Given the description of an element on the screen output the (x, y) to click on. 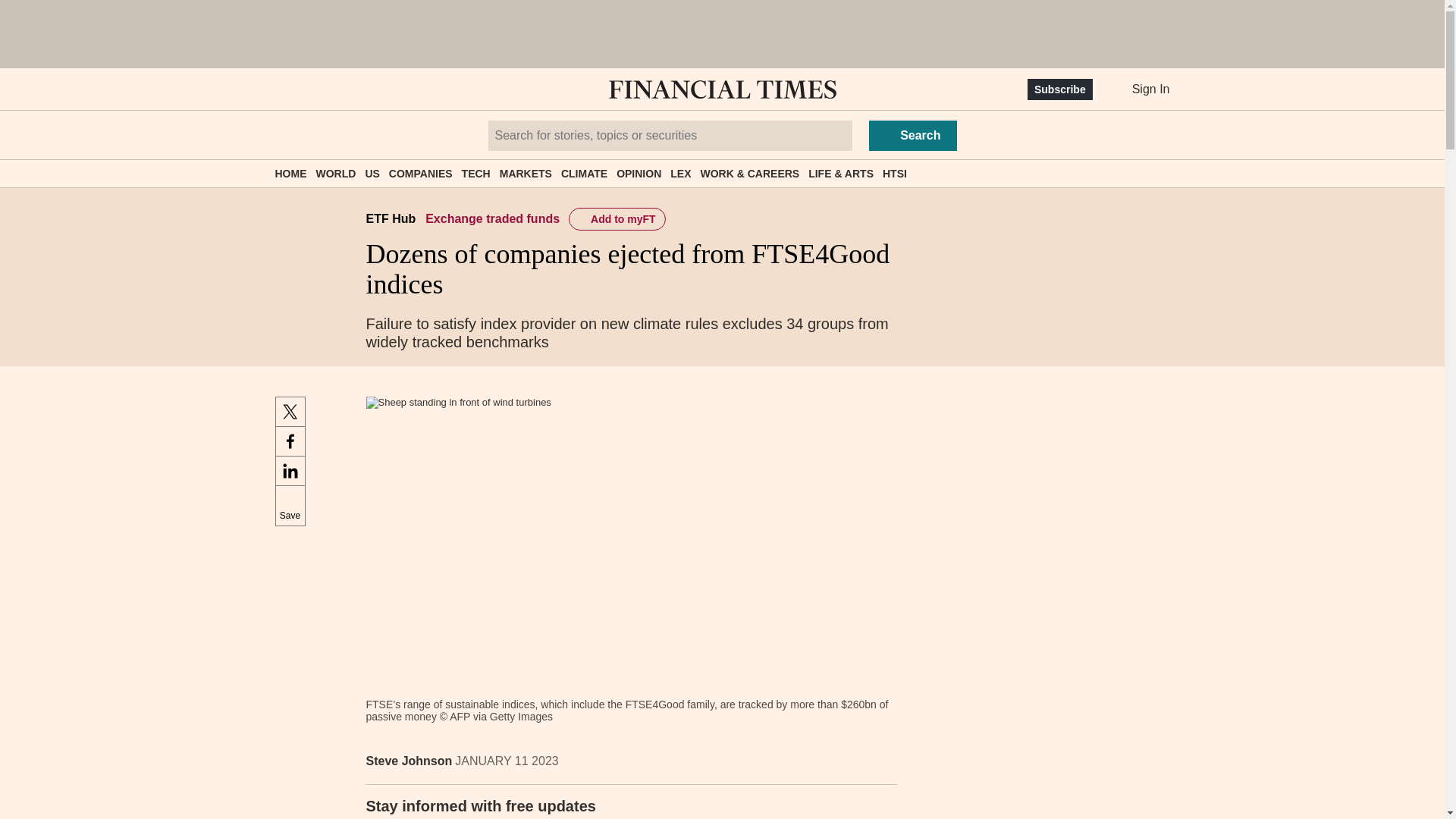
Financial Times (721, 89)
Print this page (879, 761)
OPEN SIDE NAVIGATION MENU (281, 89)
WORLD (335, 173)
OPEN SEARCH BAR (327, 89)
Open search bar (327, 89)
Sign In (1139, 89)
Open side navigation menu (281, 89)
Add Exchange traded funds to myFT (617, 219)
Financial Times (721, 89)
Subscribe (1060, 88)
January 11 2023 1:20 am (505, 760)
Go to Financial Times homepage (721, 89)
Search (912, 135)
HOME (290, 173)
